Given the description of an element on the screen output the (x, y) to click on. 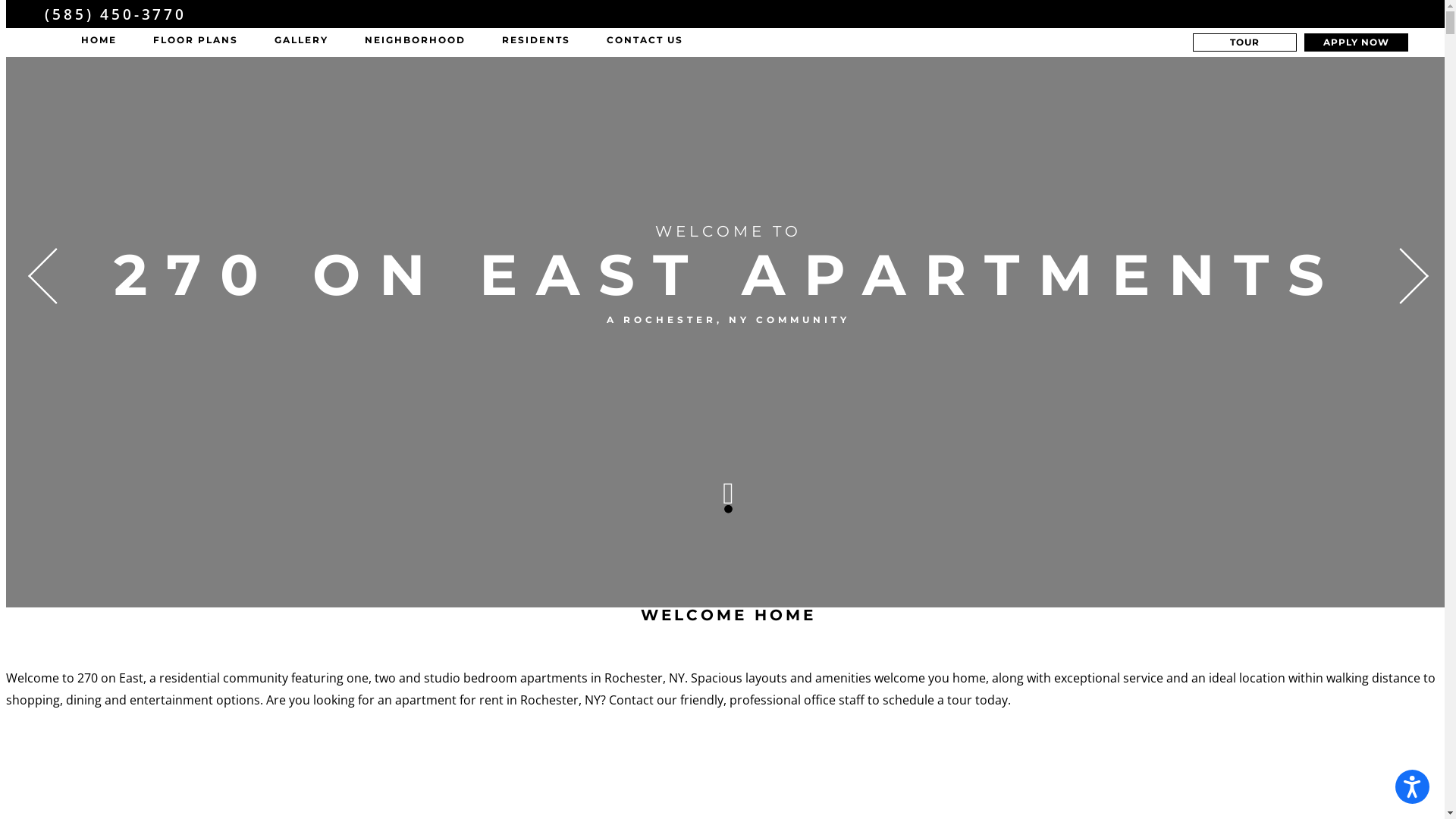
CONTACT US Element type: text (644, 44)
FLOOR PLANS Element type: text (195, 44)
GALLERY Element type: text (301, 44)
APPLY NOW Element type: text (1356, 42)
RESIDENTS Element type: text (536, 44)
NEIGHBORHOOD Element type: text (414, 44)
TOUR Element type: text (1244, 42)
HOME Element type: text (98, 44)
(585) 450-3770 Element type: text (115, 13)
